Given the description of an element on the screen output the (x, y) to click on. 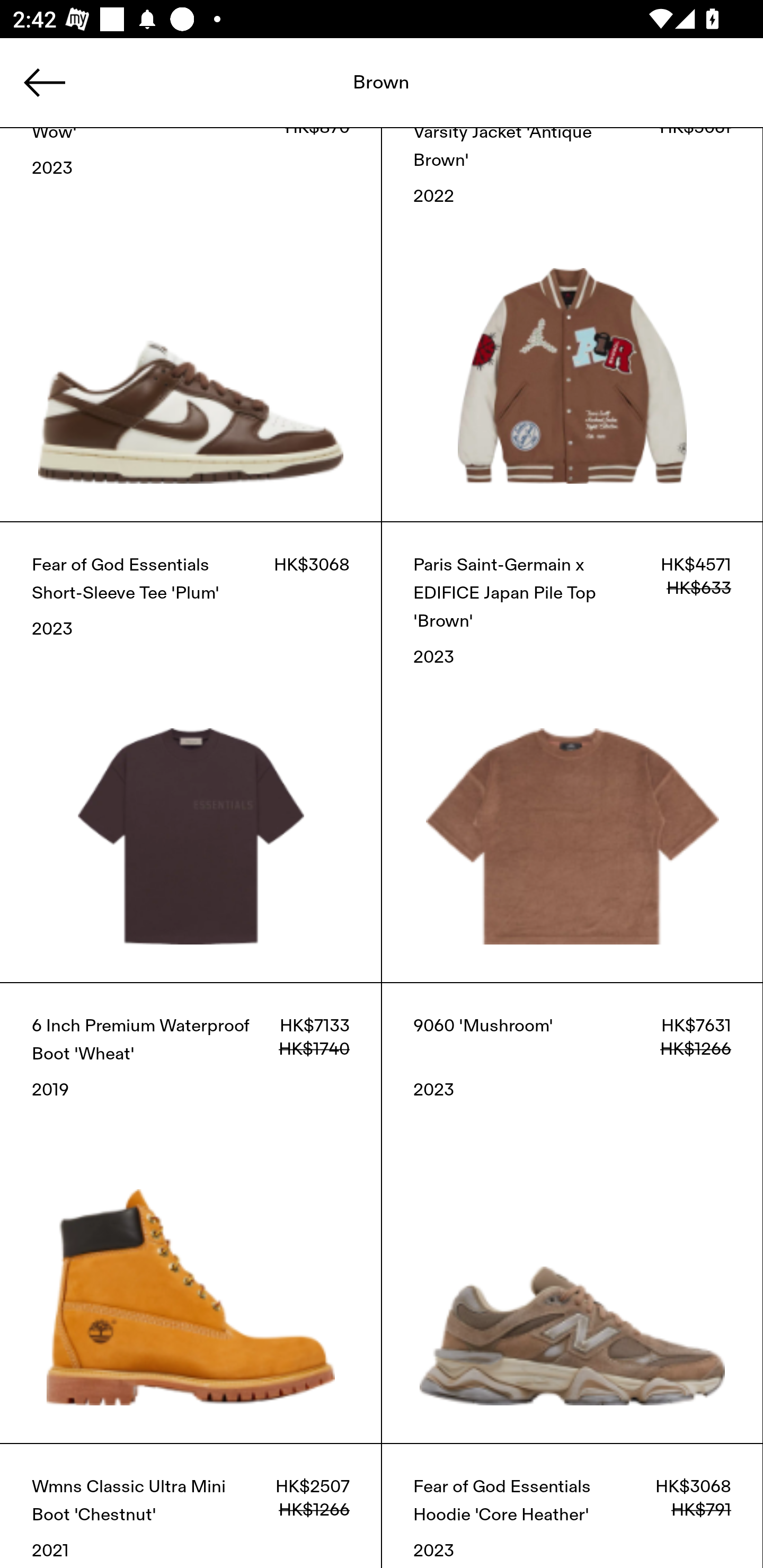
Wmns Dunk Low 'Cacao Wow' HK$870 2023 (190, 325)
9060 'Mushroom' HK$7631 HK$1266 2023 (572, 1213)
